Given the description of an element on the screen output the (x, y) to click on. 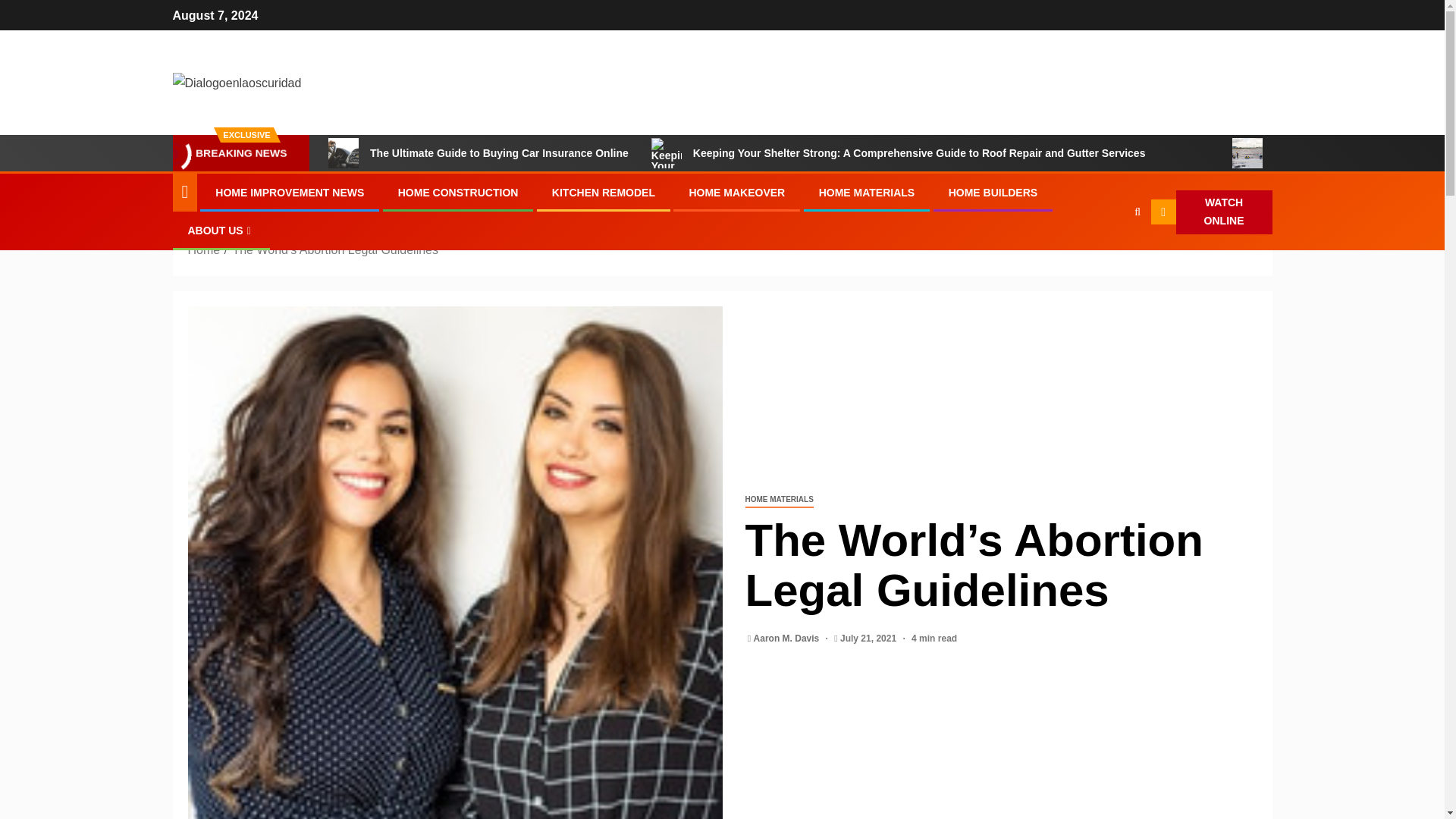
HOME BUILDERS (992, 192)
Home (204, 249)
HOME MATERIALS (866, 192)
HOME MATERIALS (778, 499)
HOME IMPROVEMENT NEWS (289, 192)
ABOUT US (220, 230)
The Ultimate Guide to Buying Car Insurance Online (343, 153)
HOME MAKEOVER (736, 192)
The Ultimate Guide to Buying Car Insurance Online (478, 153)
